Given the description of an element on the screen output the (x, y) to click on. 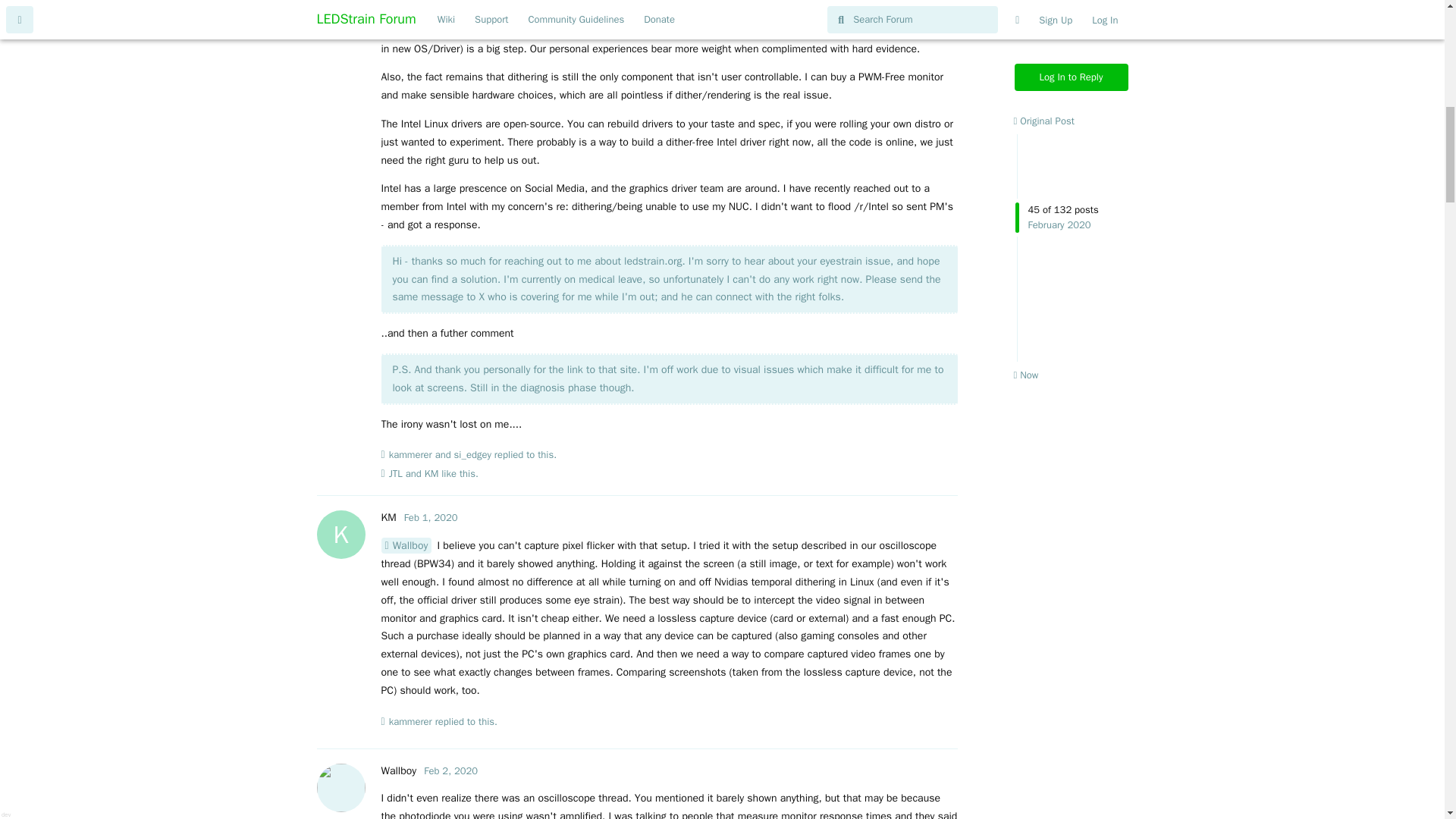
Saturday, February 1, 2020 9:08 PM (431, 517)
kammerer (410, 454)
JTL (395, 473)
KM (388, 517)
Sunday, February 2, 2020 9:11 AM (432, 473)
Feb 1, 2020 (450, 770)
